Given the description of an element on the screen output the (x, y) to click on. 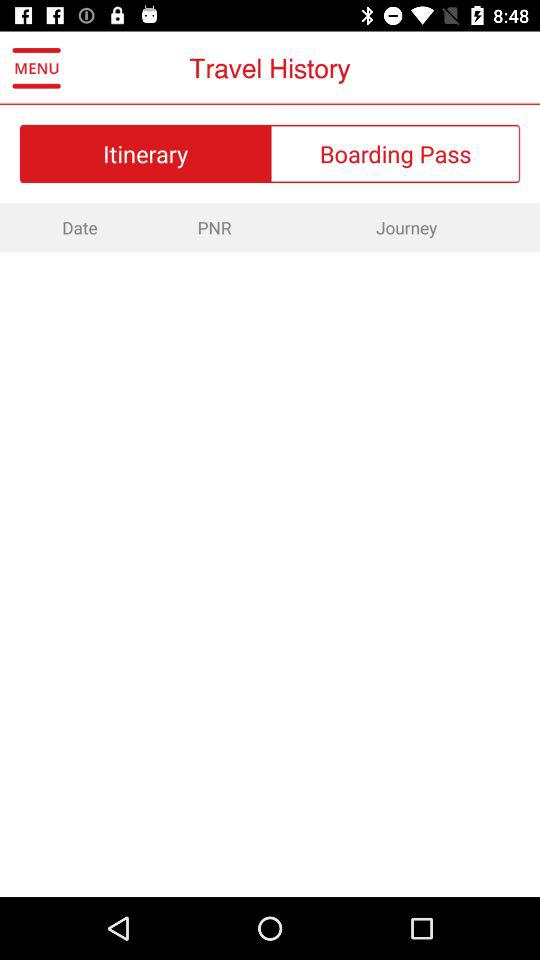
scroll to date icon (77, 227)
